Given the description of an element on the screen output the (x, y) to click on. 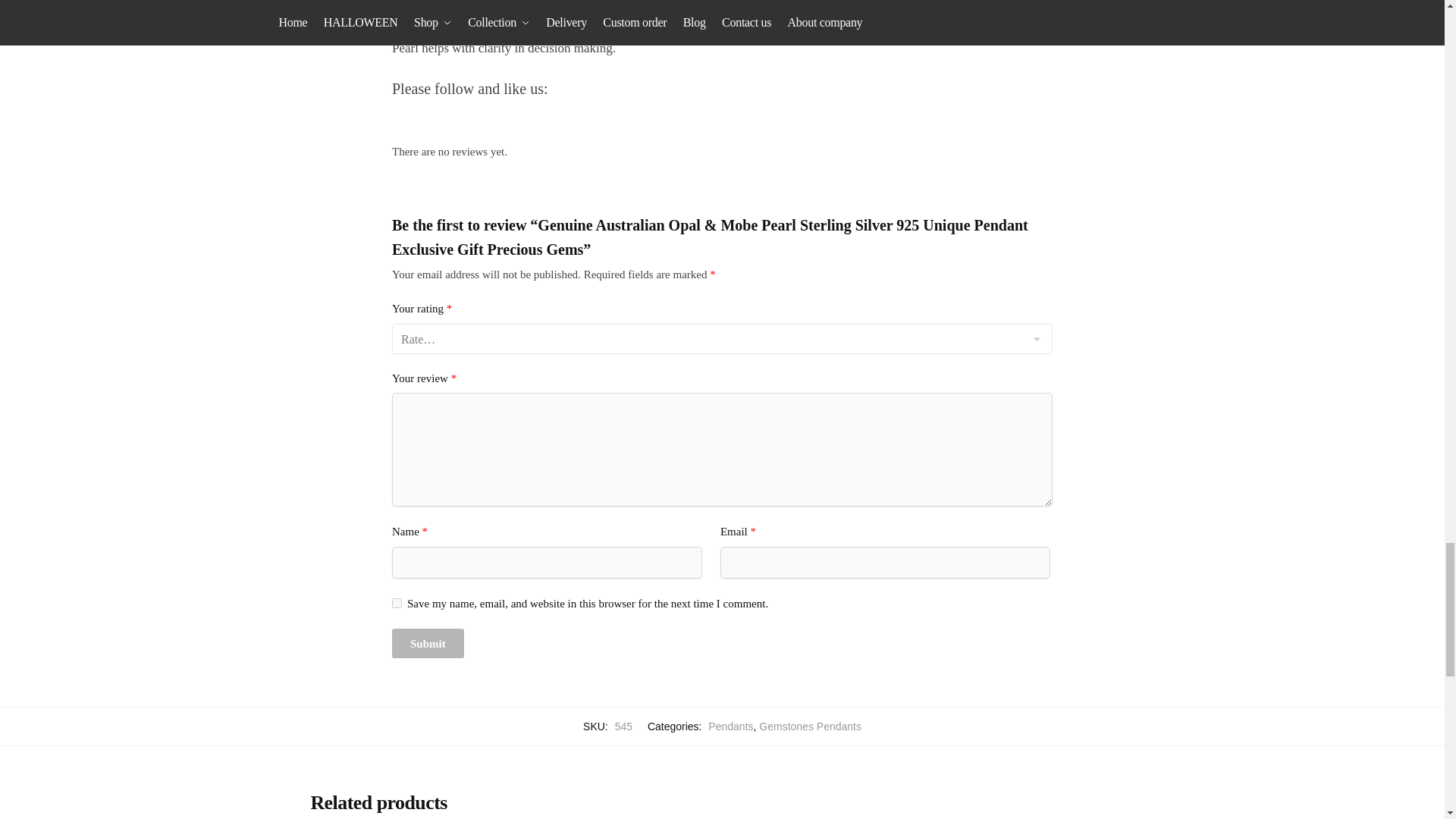
yes (396, 603)
Facebook Share (906, 89)
Submit (427, 643)
